Given the description of an element on the screen output the (x, y) to click on. 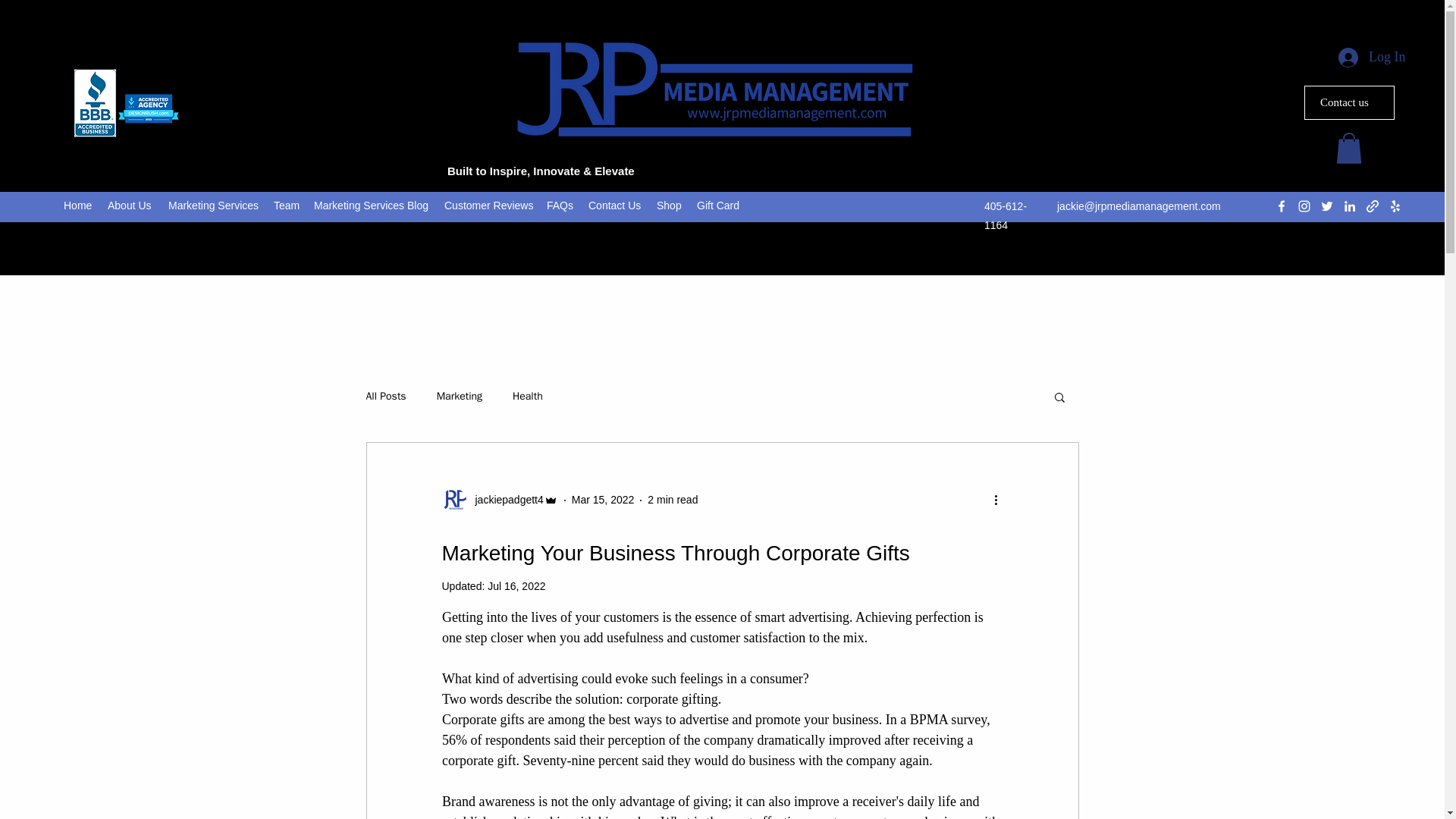
Team (285, 205)
Jul 16, 2022 (515, 585)
Health (527, 396)
jackiepadgett4 (504, 499)
Home (78, 205)
Marketing Services Blog (370, 205)
Marketing (458, 396)
Marketing Services (213, 205)
2 min read (672, 499)
About Us (130, 205)
Customer Reviews (487, 205)
Shop (668, 205)
Contact Us (614, 205)
jackiepadgett4 (499, 500)
FAQs (559, 205)
